Given the description of an element on the screen output the (x, y) to click on. 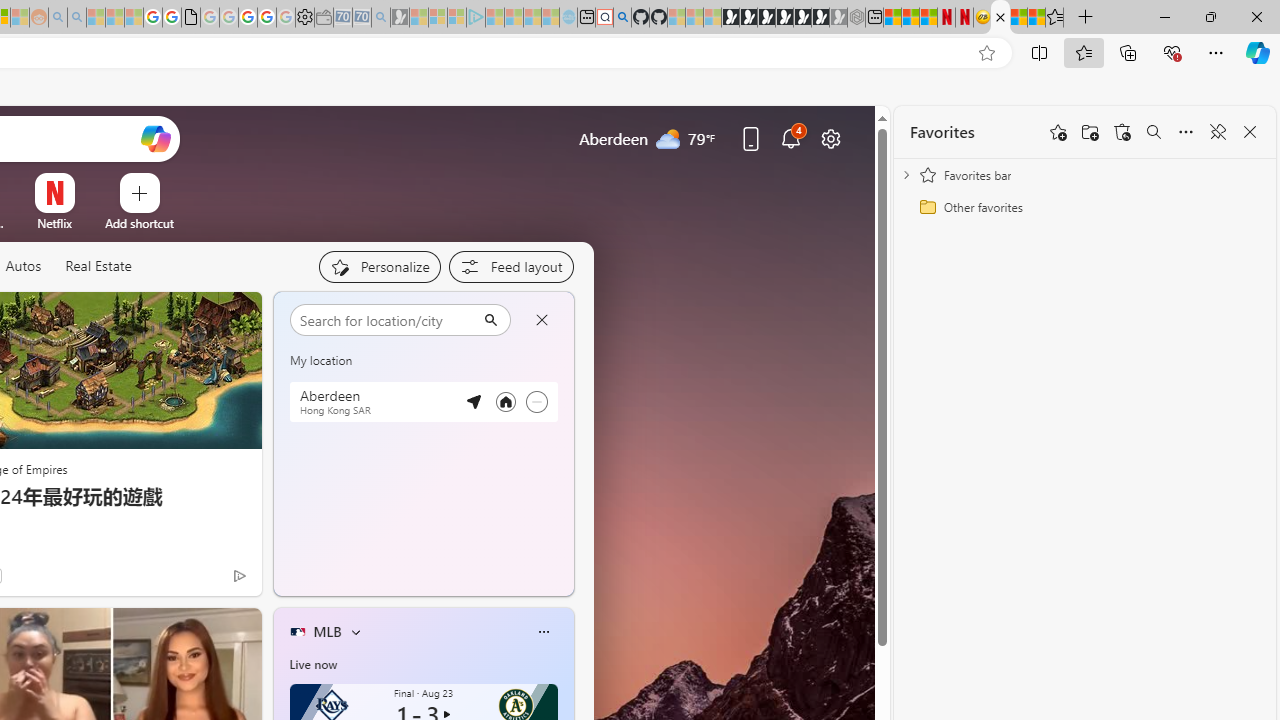
previous (283, 443)
Cannot remove (536, 401)
